Given the description of an element on the screen output the (x, y) to click on. 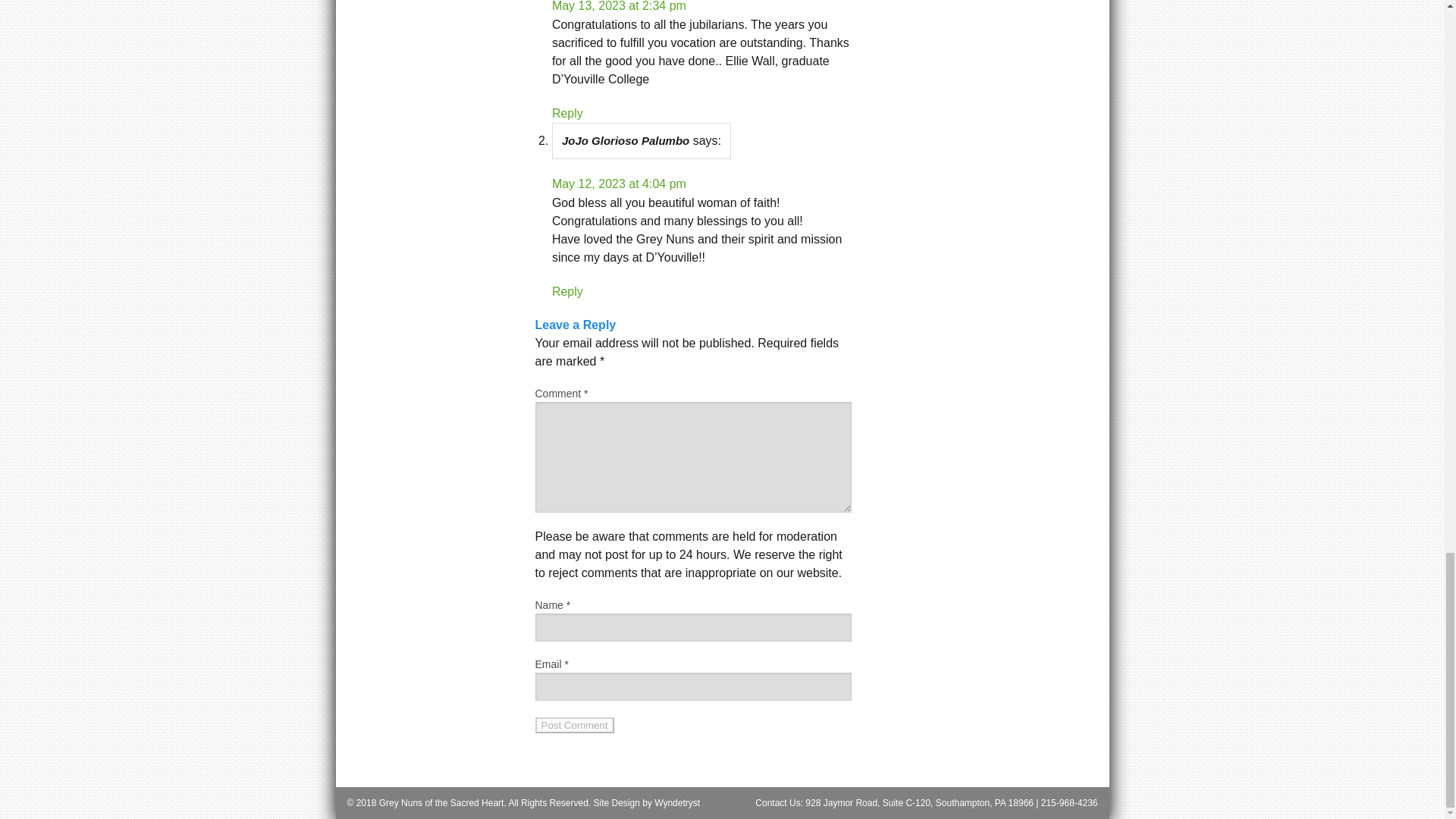
Post Comment (574, 725)
